Given the description of an element on the screen output the (x, y) to click on. 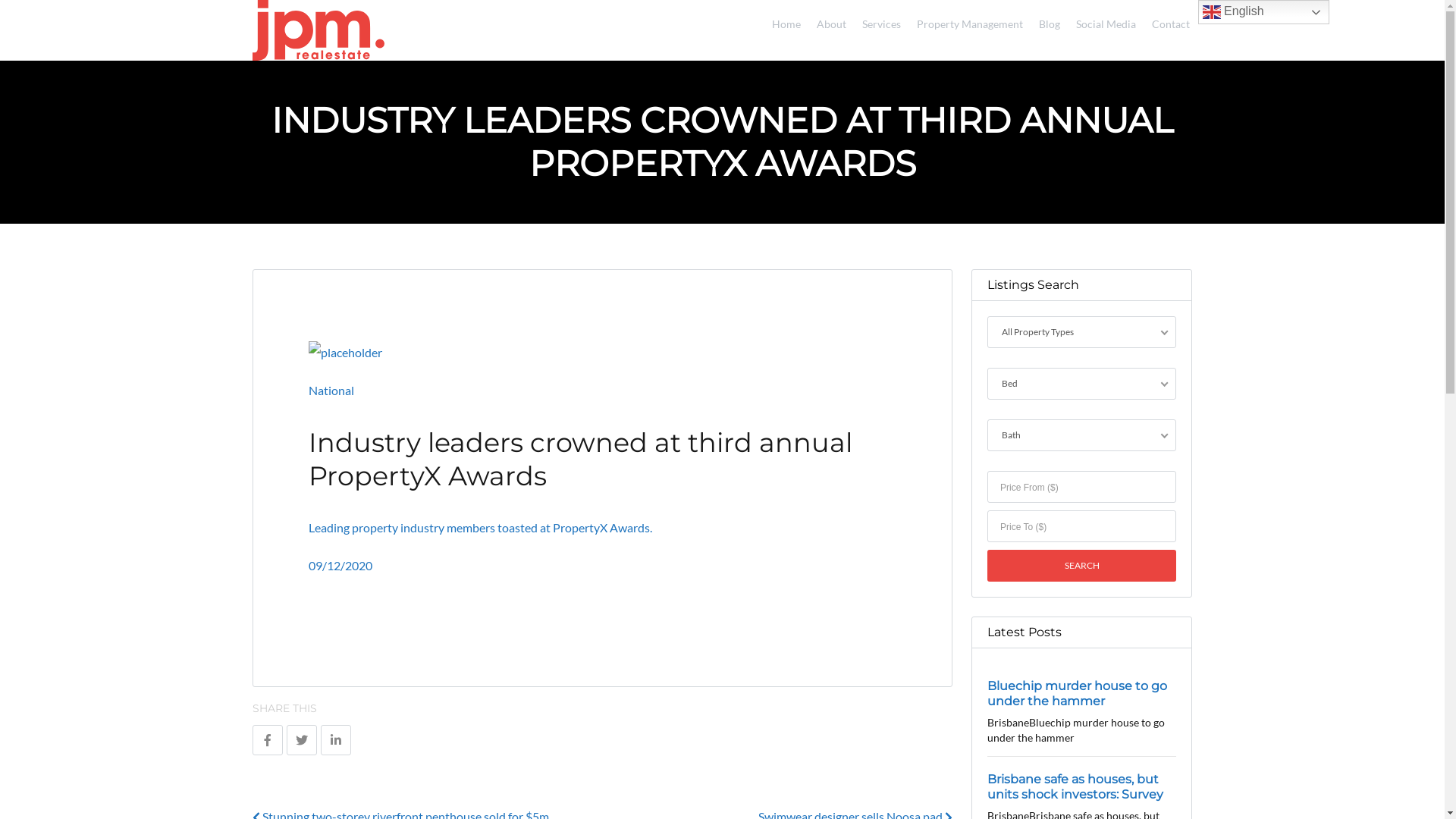
Search Element type: text (1081, 565)
Blog Element type: text (1044, 21)
Home Element type: text (781, 21)
English Element type: text (1263, 12)
Property Management Element type: text (965, 21)
Contact Element type: text (1166, 21)
Bluechip murder house to go under the hammer Element type: text (1077, 693)
Social Media Element type: text (1101, 21)
About Element type: text (826, 21)
Services Element type: text (876, 21)
Brisbane safe as houses, but units shock investors: Survey Element type: text (1075, 786)
